Given the description of an element on the screen output the (x, y) to click on. 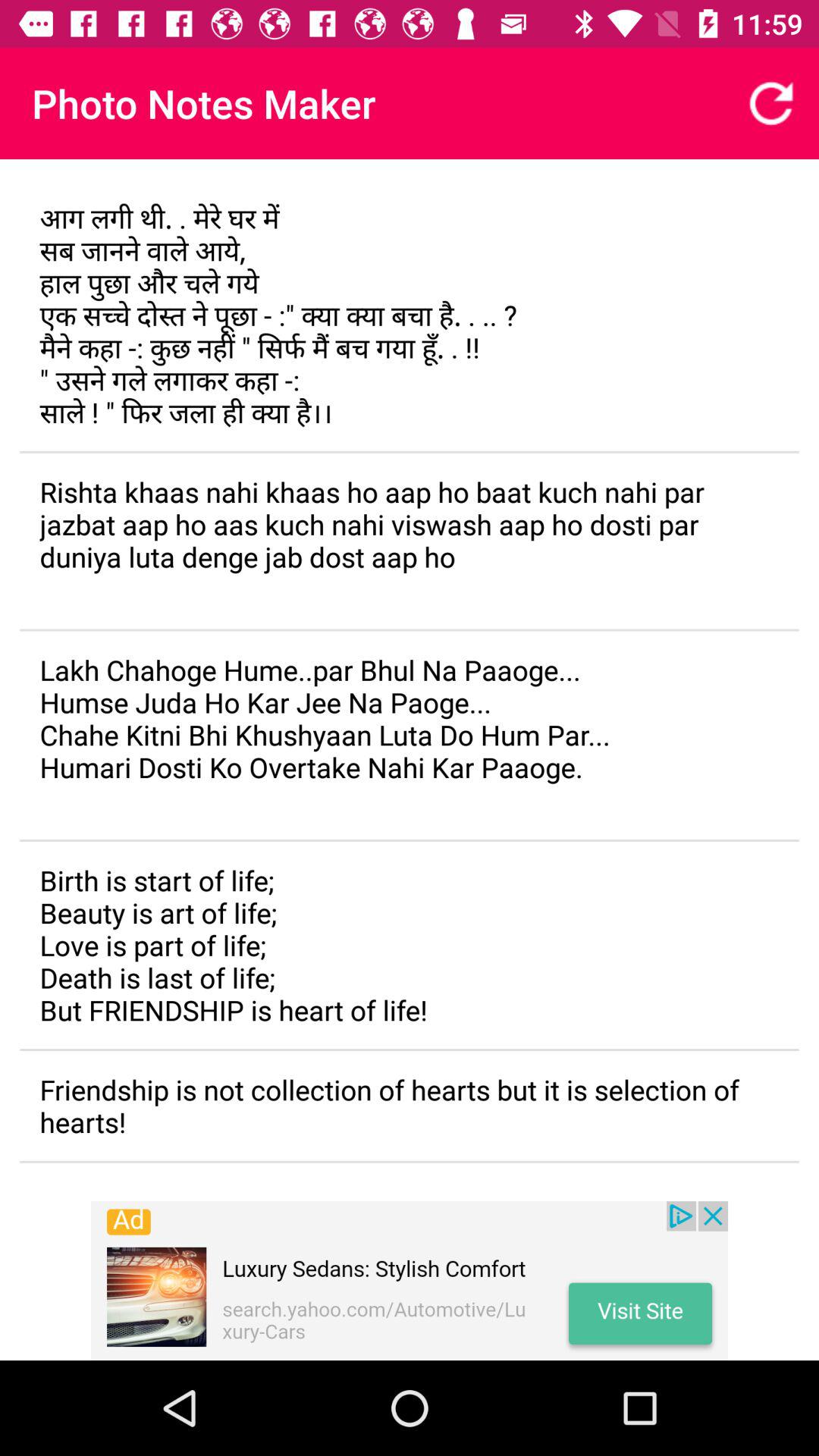
reload option (771, 103)
